Given the description of an element on the screen output the (x, y) to click on. 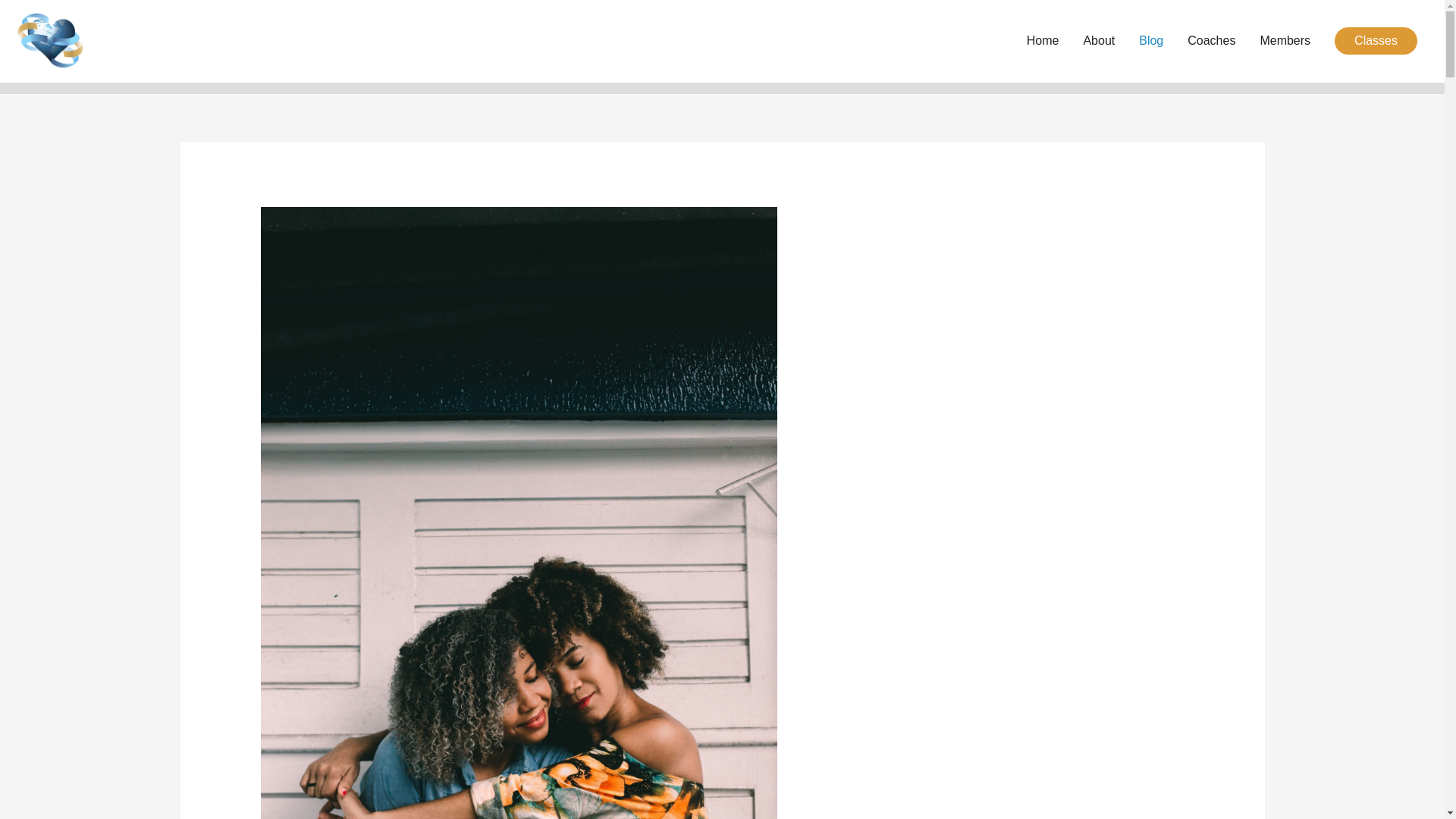
Classes (1375, 40)
Coaches (1210, 40)
Blog (1150, 40)
Home (1042, 40)
Members (1284, 40)
About (1098, 40)
